Given the description of an element on the screen output the (x, y) to click on. 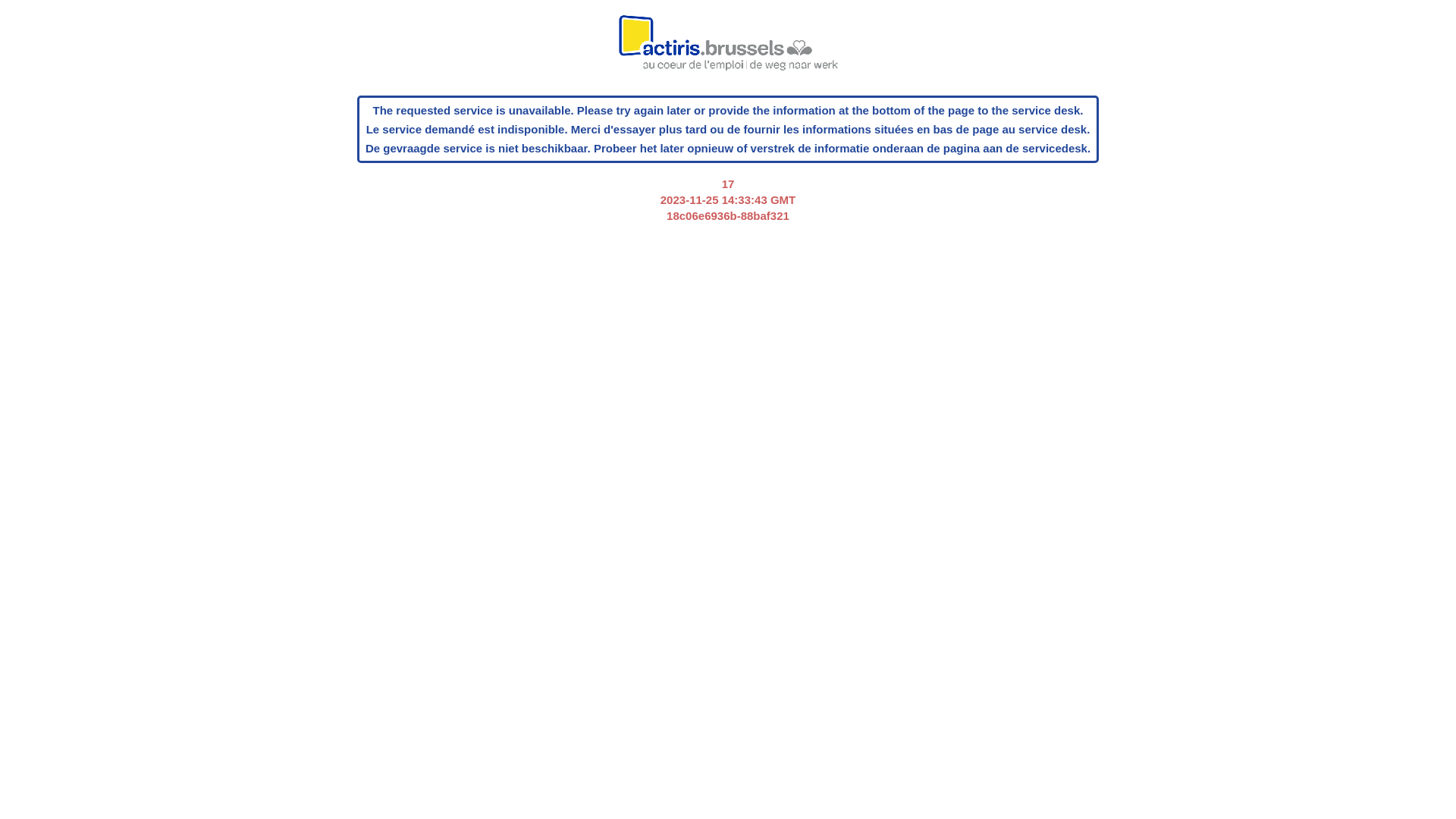
actiris_logo.png Element type: hover (727, 50)
